Given the description of an element on the screen output the (x, y) to click on. 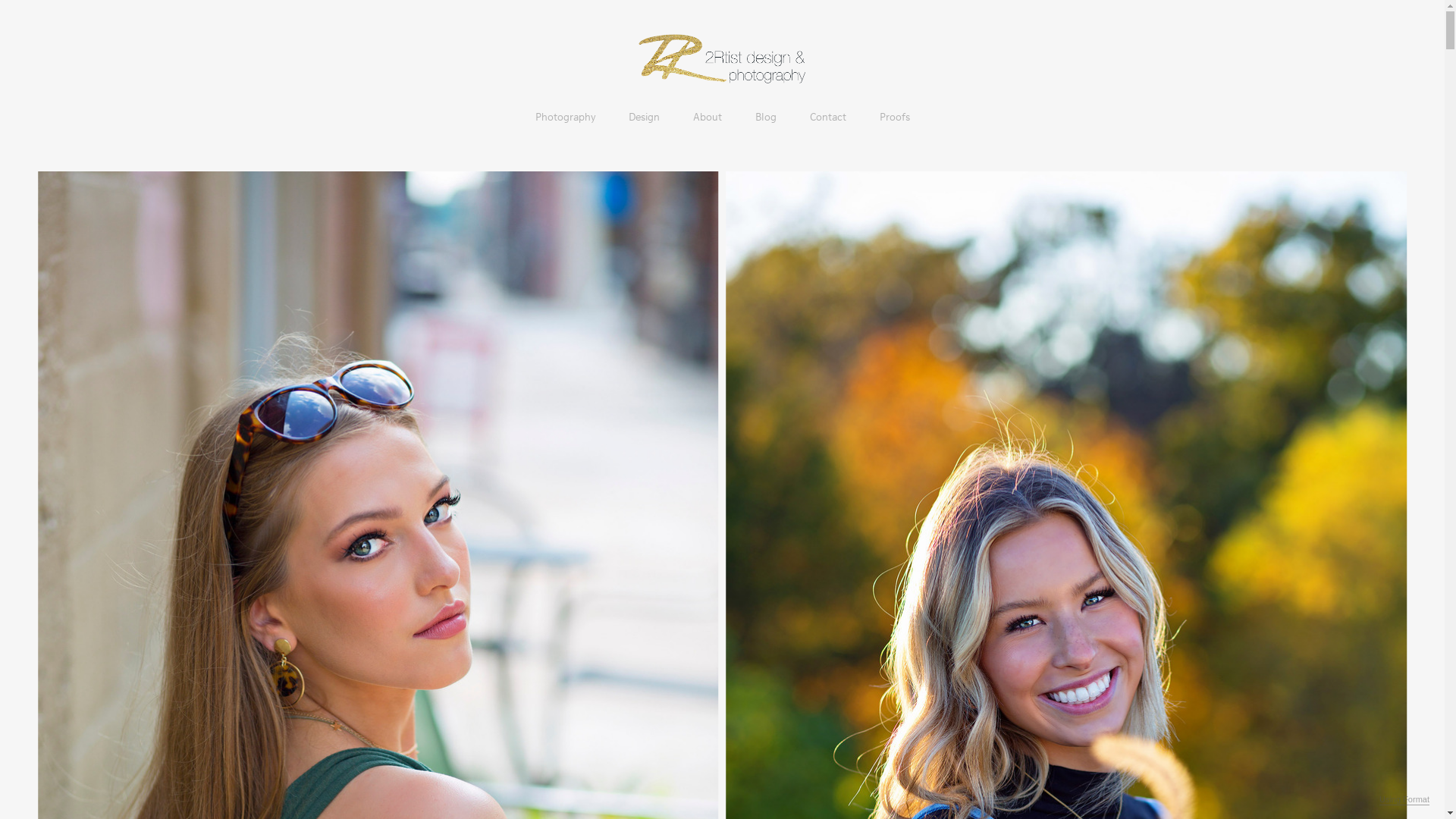
Photography Element type: text (565, 116)
Blog Element type: text (765, 116)
Contact Element type: text (827, 116)
Proofs Element type: text (894, 116)
Design Element type: text (642, 116)
Using Format Element type: text (1404, 799)
About Element type: text (707, 116)
